Given the description of an element on the screen output the (x, y) to click on. 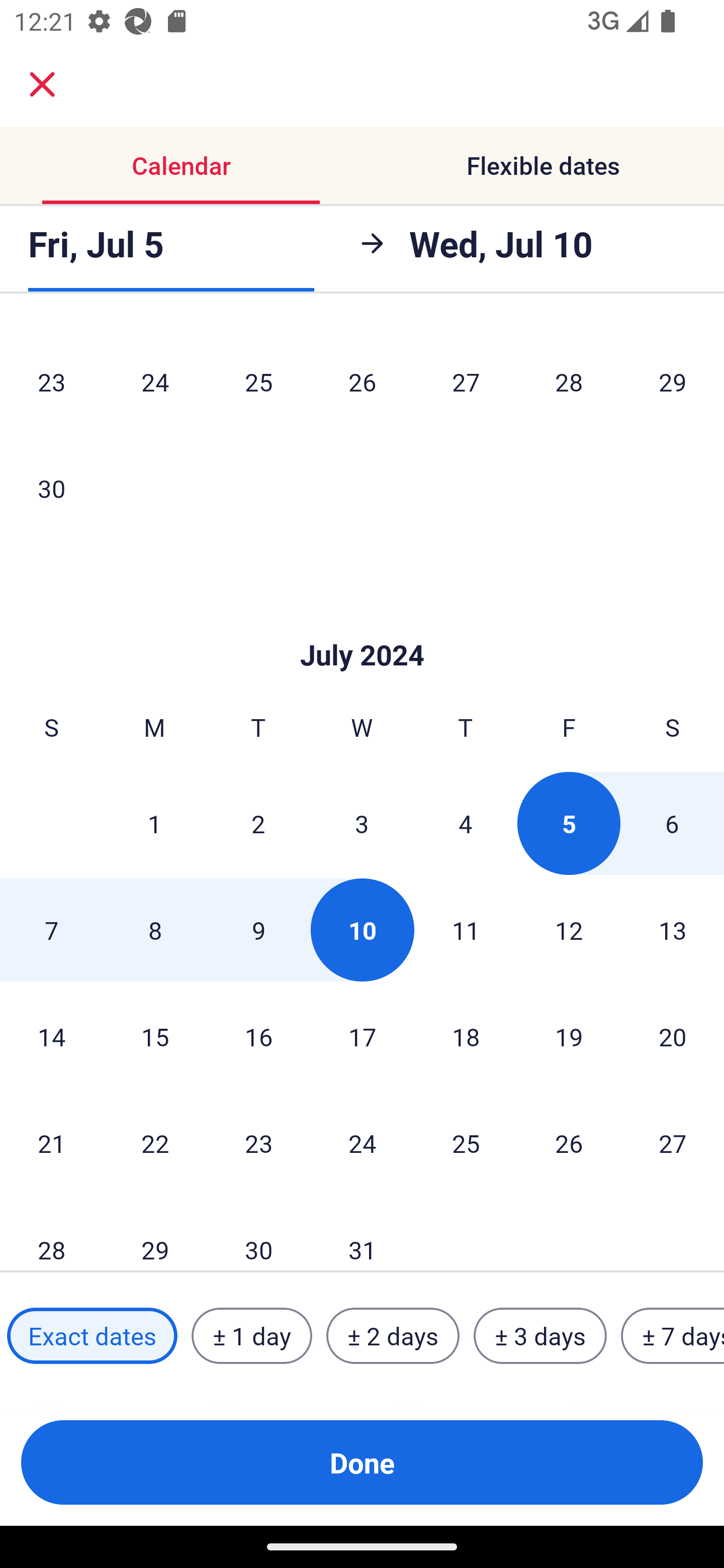
close. (42, 84)
Flexible dates (542, 164)
23 Sunday, June 23, 2024 (51, 381)
24 Monday, June 24, 2024 (155, 381)
25 Tuesday, June 25, 2024 (258, 381)
26 Wednesday, June 26, 2024 (362, 381)
27 Thursday, June 27, 2024 (465, 381)
28 Friday, June 28, 2024 (569, 381)
29 Saturday, June 29, 2024 (672, 381)
30 Sunday, June 30, 2024 (51, 488)
Skip to Done (362, 625)
1 Monday, July 1, 2024 (154, 822)
2 Tuesday, July 2, 2024 (257, 822)
3 Wednesday, July 3, 2024 (361, 822)
4 Thursday, July 4, 2024 (465, 822)
11 Thursday, July 11, 2024 (465, 929)
12 Friday, July 12, 2024 (569, 929)
13 Saturday, July 13, 2024 (672, 929)
14 Sunday, July 14, 2024 (51, 1036)
15 Monday, July 15, 2024 (155, 1036)
16 Tuesday, July 16, 2024 (258, 1036)
17 Wednesday, July 17, 2024 (362, 1036)
18 Thursday, July 18, 2024 (465, 1036)
19 Friday, July 19, 2024 (569, 1036)
20 Saturday, July 20, 2024 (672, 1036)
21 Sunday, July 21, 2024 (51, 1142)
22 Monday, July 22, 2024 (155, 1142)
23 Tuesday, July 23, 2024 (258, 1142)
24 Wednesday, July 24, 2024 (362, 1142)
25 Thursday, July 25, 2024 (465, 1142)
26 Friday, July 26, 2024 (569, 1142)
27 Saturday, July 27, 2024 (672, 1142)
28 Sunday, July 28, 2024 (51, 1233)
29 Monday, July 29, 2024 (155, 1233)
30 Tuesday, July 30, 2024 (258, 1233)
31 Wednesday, July 31, 2024 (362, 1233)
Exact dates (92, 1335)
± 1 day (251, 1335)
± 2 days (392, 1335)
± 3 days (539, 1335)
± 7 days (672, 1335)
Done (361, 1462)
